Given the description of an element on the screen output the (x, y) to click on. 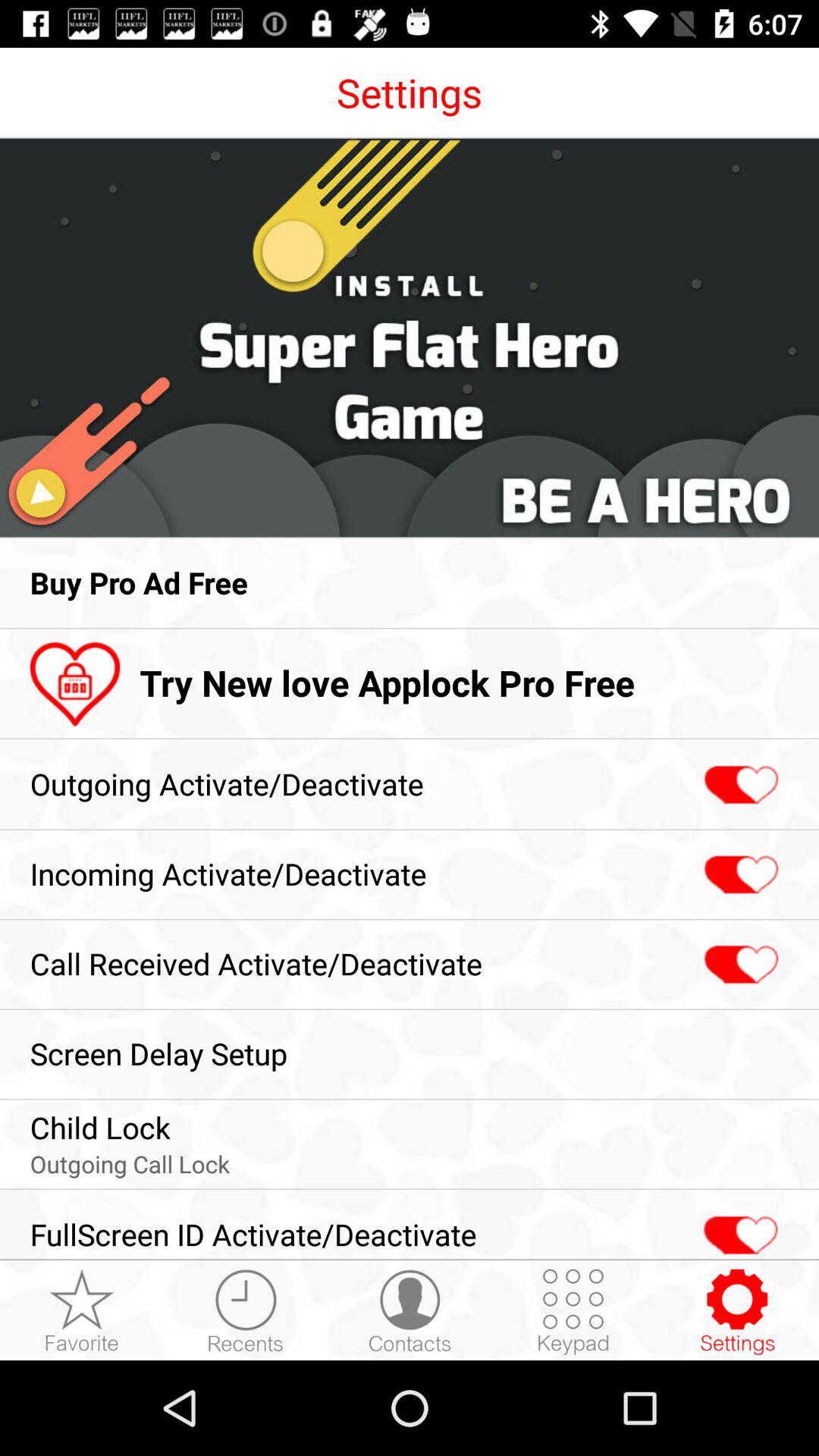
switch incoming option (739, 875)
